Given the description of an element on the screen output the (x, y) to click on. 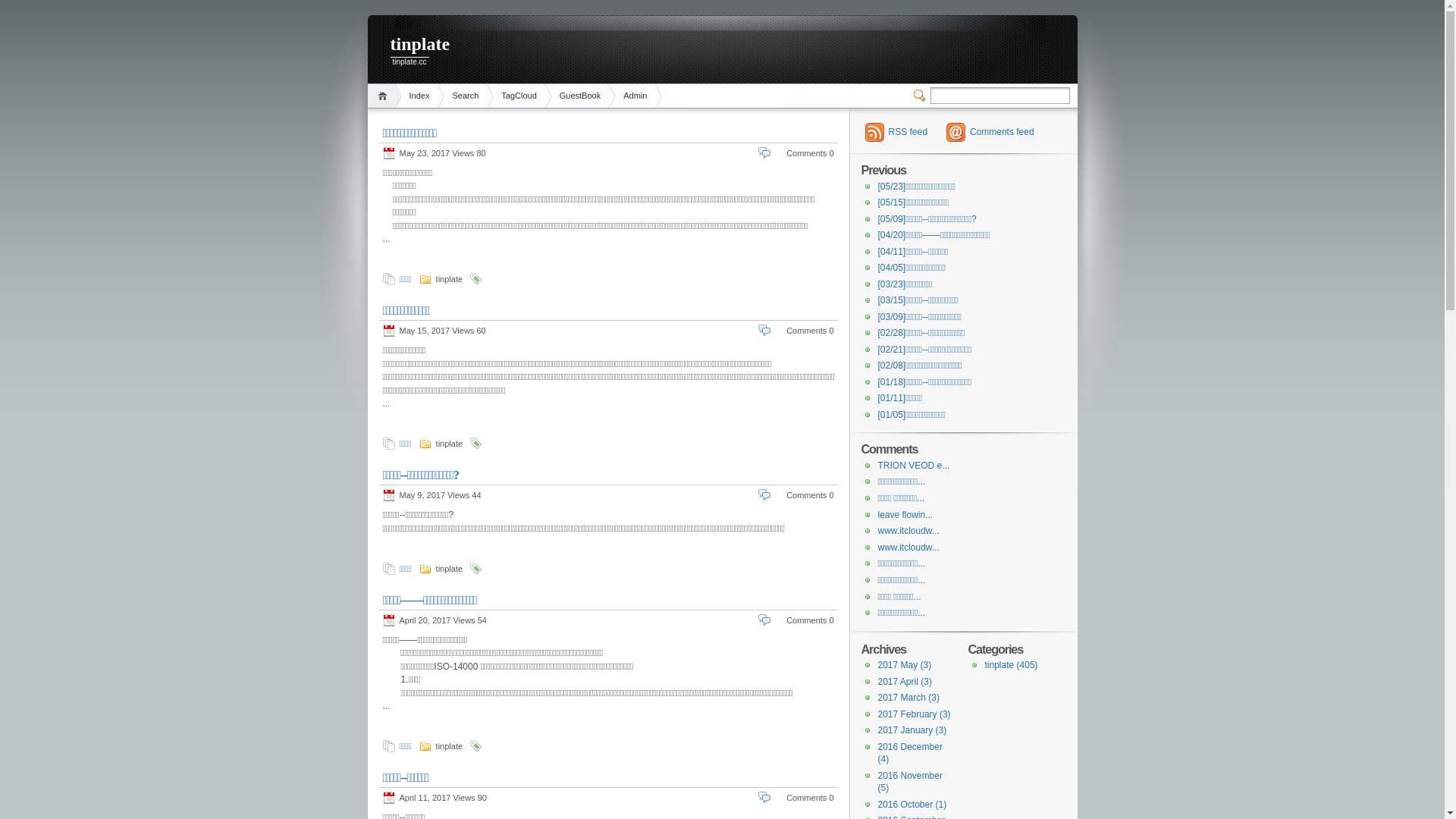
TRION VEOD e... Element type: text (914, 465)
leave flowin... Element type: text (905, 514)
Comments feed Element type: text (990, 132)
TagCloud Element type: text (518, 95)
2016 December (4) Element type: text (910, 753)
www.itcloudw... Element type: text (908, 530)
2016 October (1) Element type: text (912, 804)
Index Element type: text (419, 95)
2017 March (3) Element type: text (908, 697)
RSS feed Element type: text (896, 132)
2017 May (3) Element type: text (904, 664)
2017 April (3) Element type: text (904, 681)
GuestBook Element type: text (579, 95)
www.itcloudw... Element type: text (908, 547)
Switcher Element type: text (921, 95)
2017 January (3) Element type: text (912, 729)
Admin Element type: text (635, 95)
Search Element type: text (464, 95)
2016 November (5) Element type: text (910, 781)
2017 February (3) Element type: text (914, 714)
tinplate (405) Element type: text (1010, 664)
tinplate Element type: text (484, 45)
